Given the description of an element on the screen output the (x, y) to click on. 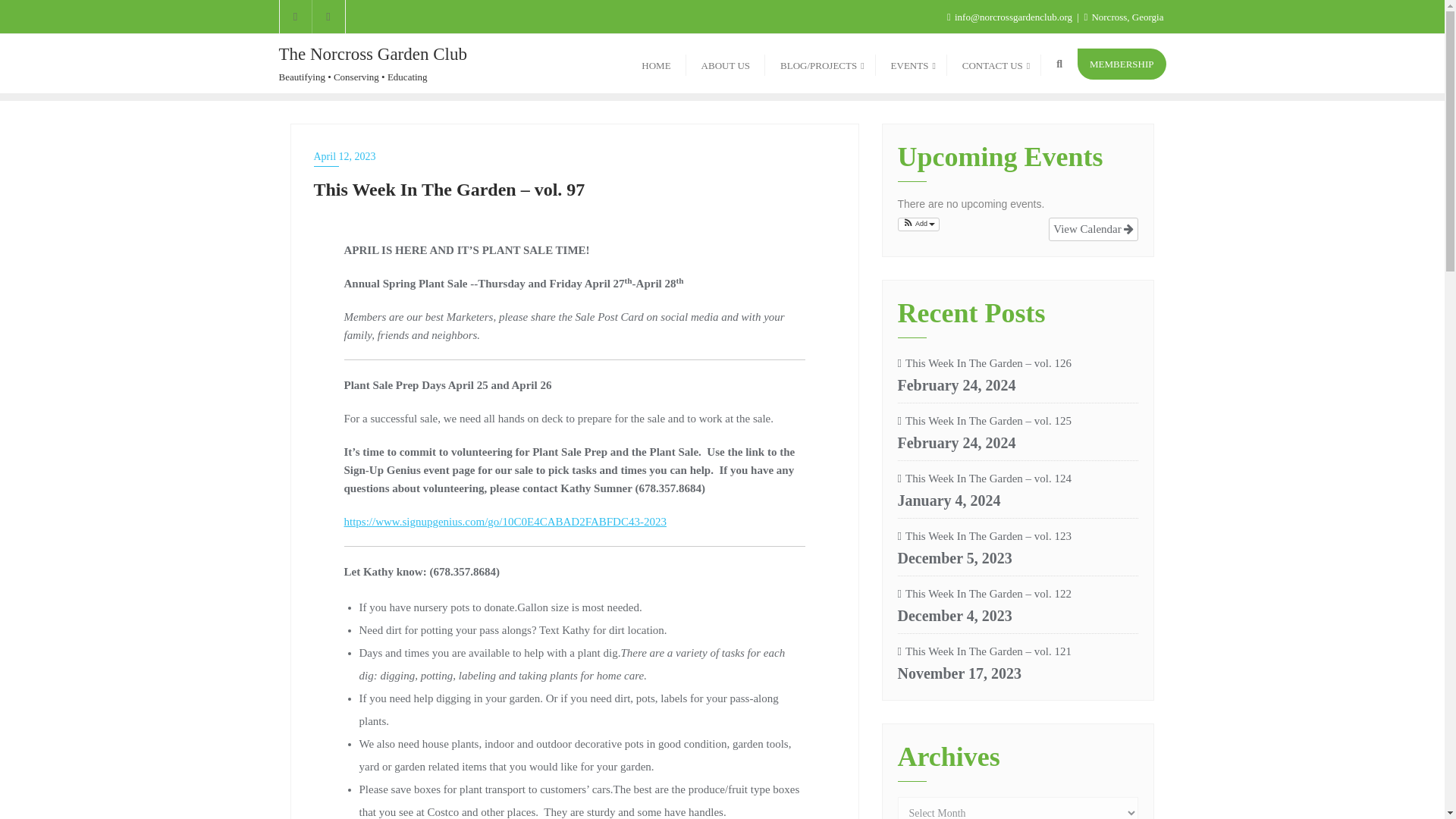
ABOUT US (725, 64)
MEMBERSHIP (1121, 63)
HOME (655, 64)
EVENTS (911, 64)
CONTACT US (994, 64)
